Given the description of an element on the screen output the (x, y) to click on. 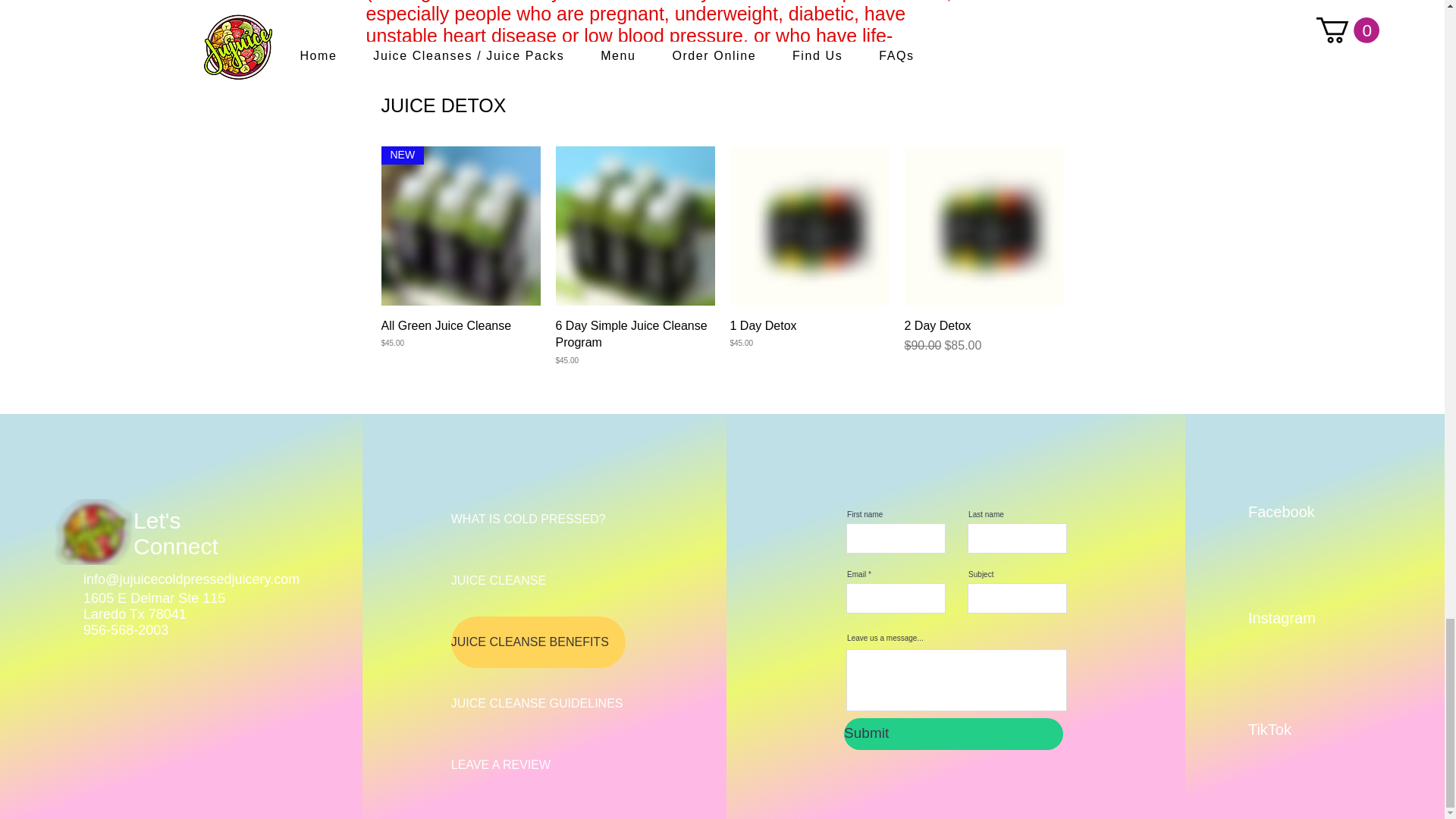
Instagram (1301, 618)
JUICE CLEANSE GUIDELINES (538, 703)
LEAVE A REVIEW (538, 765)
Facebook (1301, 512)
Submit (953, 734)
JUICE CLEANSE BENEFITS (538, 642)
WHAT IS COLD PRESSED? (538, 519)
NEW (460, 225)
JUICE CLEANSE (538, 580)
TikTok (1301, 729)
